Given the description of an element on the screen output the (x, y) to click on. 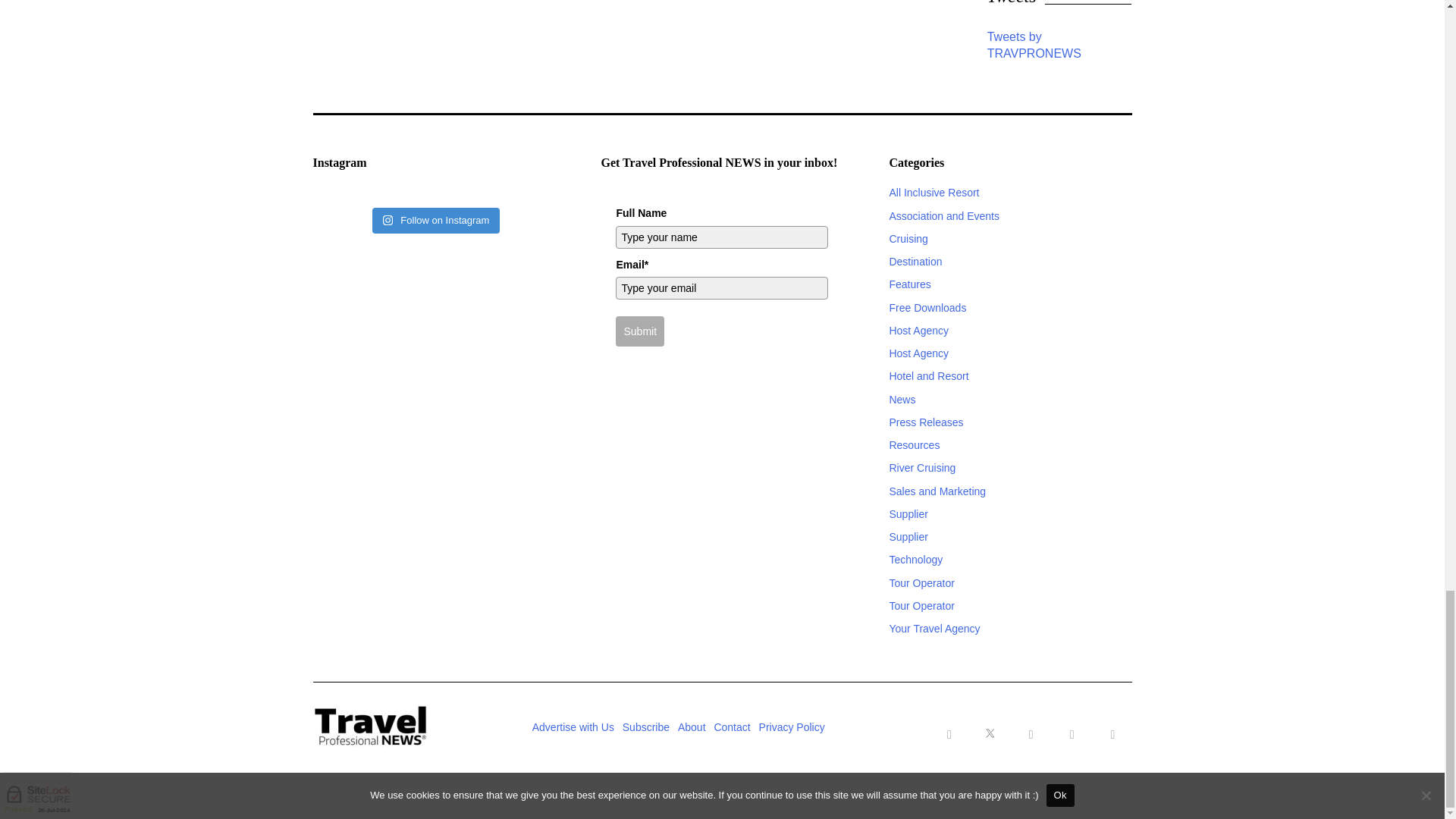
SiteLock (37, 793)
